Given the description of an element on the screen output the (x, y) to click on. 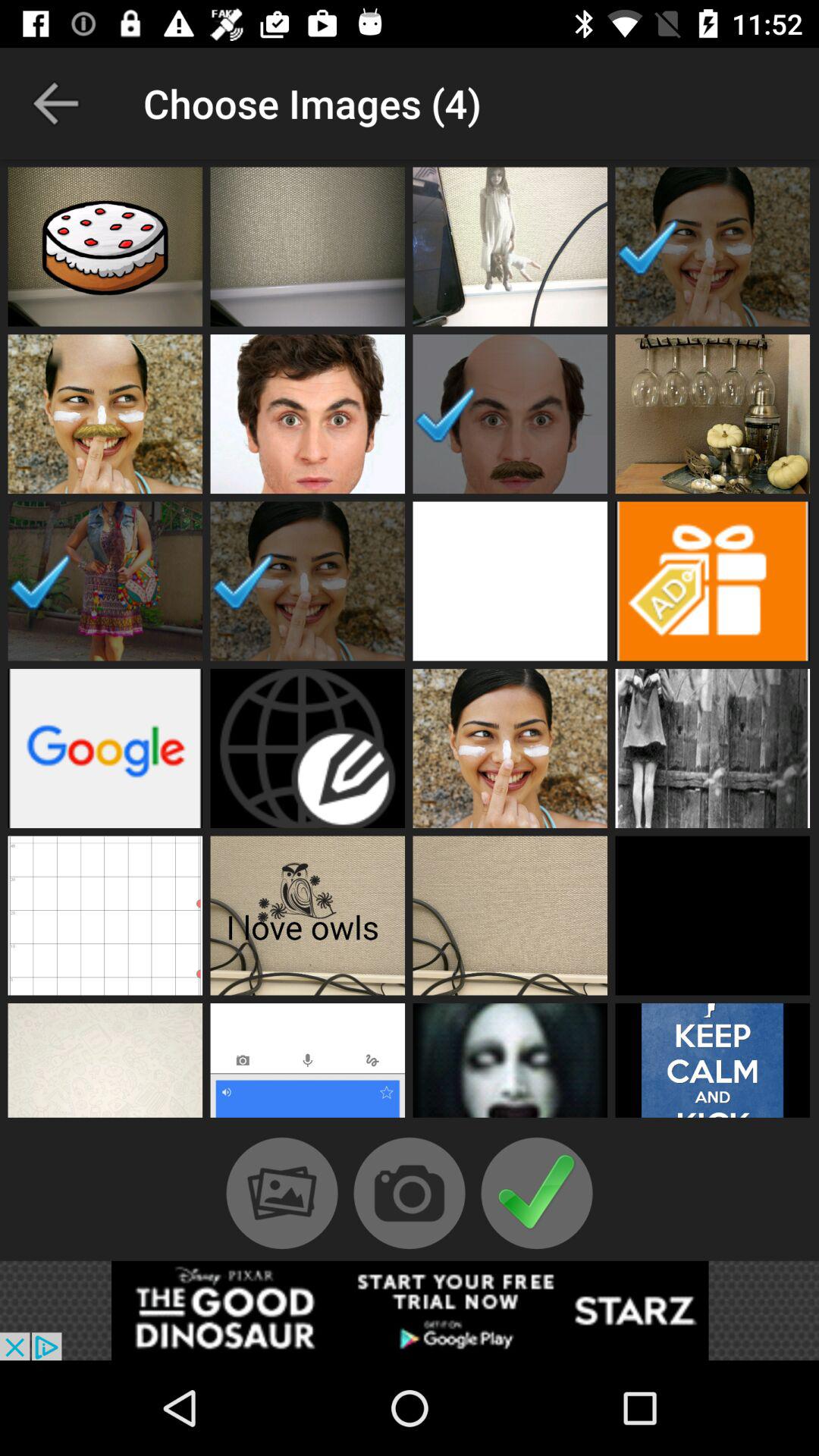
cover (307, 748)
